Given the description of an element on the screen output the (x, y) to click on. 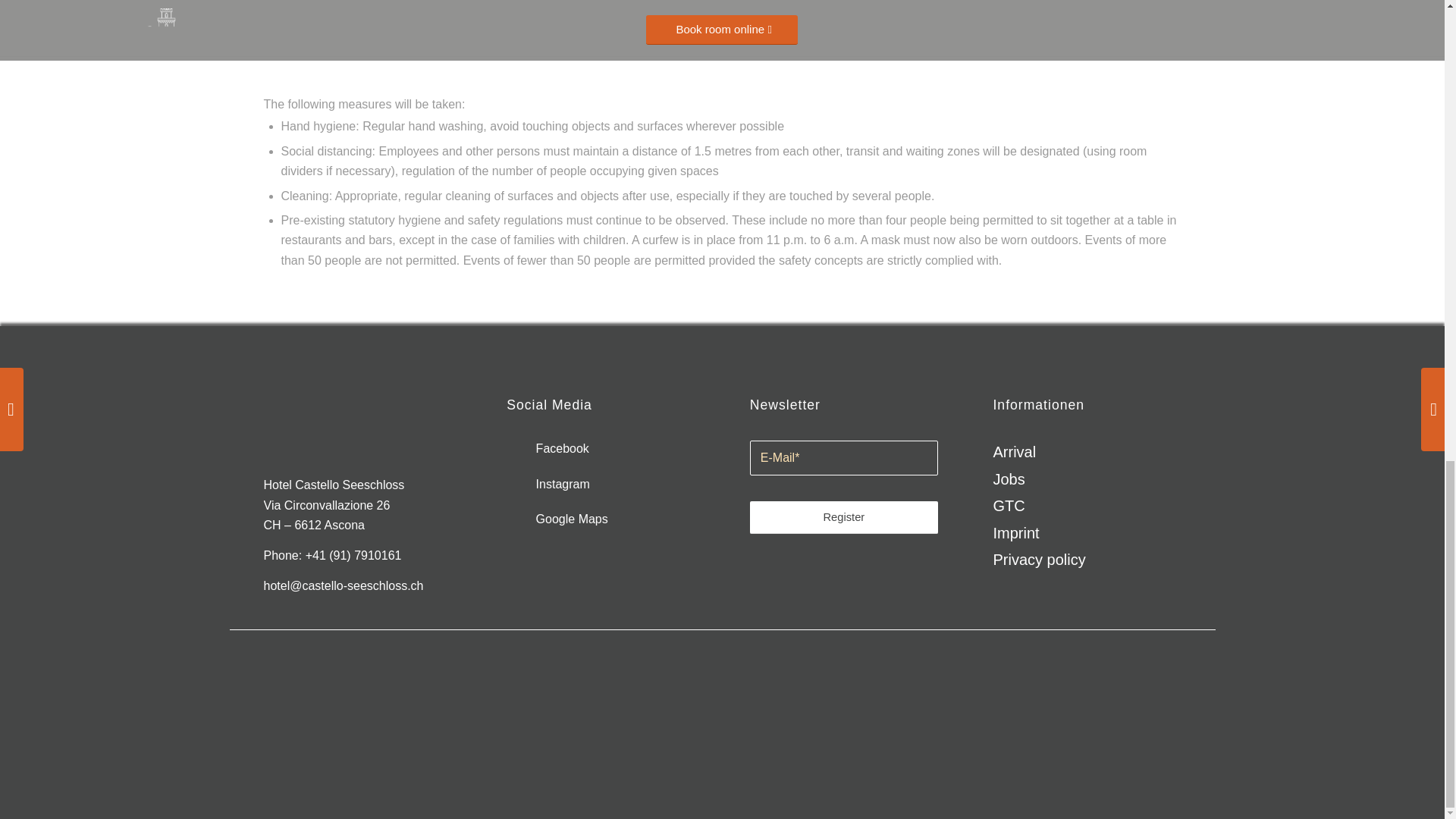
Register (843, 517)
Instagram (547, 483)
Imprint (1086, 533)
Register (843, 517)
Facebook (547, 448)
GTC (1086, 506)
Google Maps (557, 518)
Arrival (1086, 452)
Privacy policy (1086, 560)
Jobs (1086, 479)
